Given the description of an element on the screen output the (x, y) to click on. 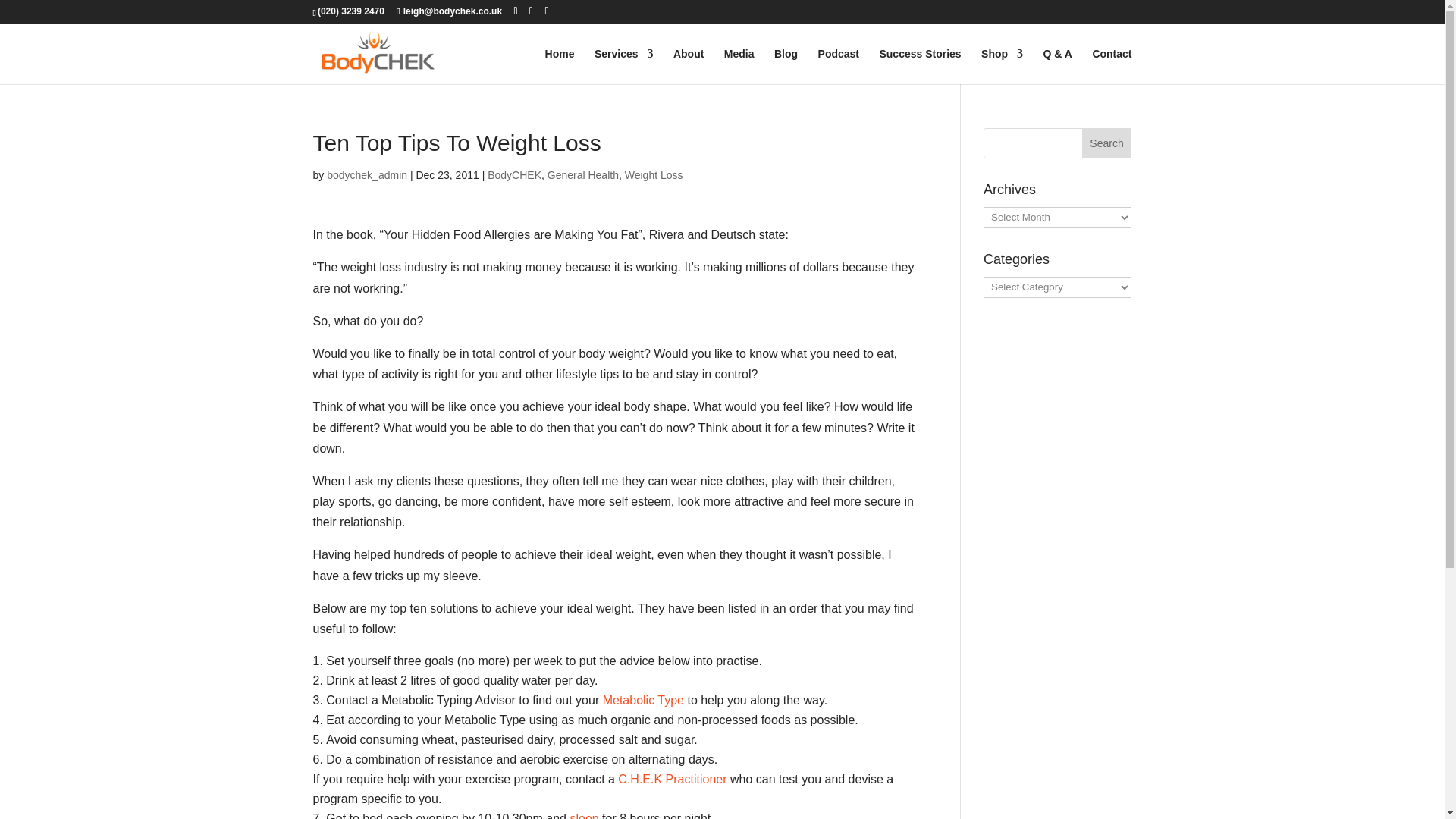
Podcast (838, 66)
Success Stories (919, 66)
Search (1106, 142)
Contact (1111, 66)
Services (623, 66)
Shop (1002, 66)
